Given the description of an element on the screen output the (x, y) to click on. 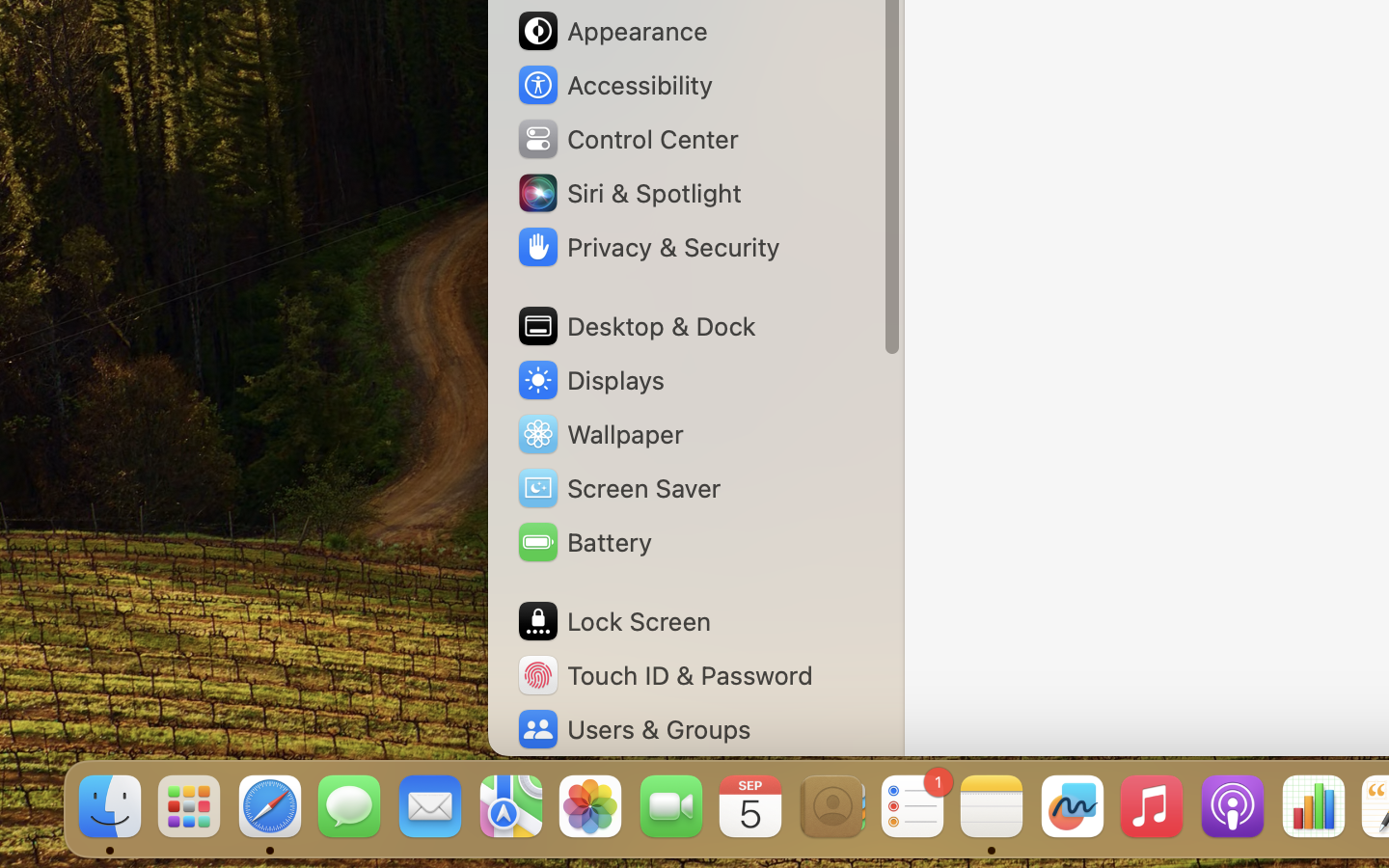
Privacy & Security Element type: AXStaticText (647, 246)
Wallpaper Element type: AXStaticText (598, 433)
Siri & Spotlight Element type: AXStaticText (627, 192)
Control Center Element type: AXStaticText (626, 138)
Screen Saver Element type: AXStaticText (618, 487)
